Given the description of an element on the screen output the (x, y) to click on. 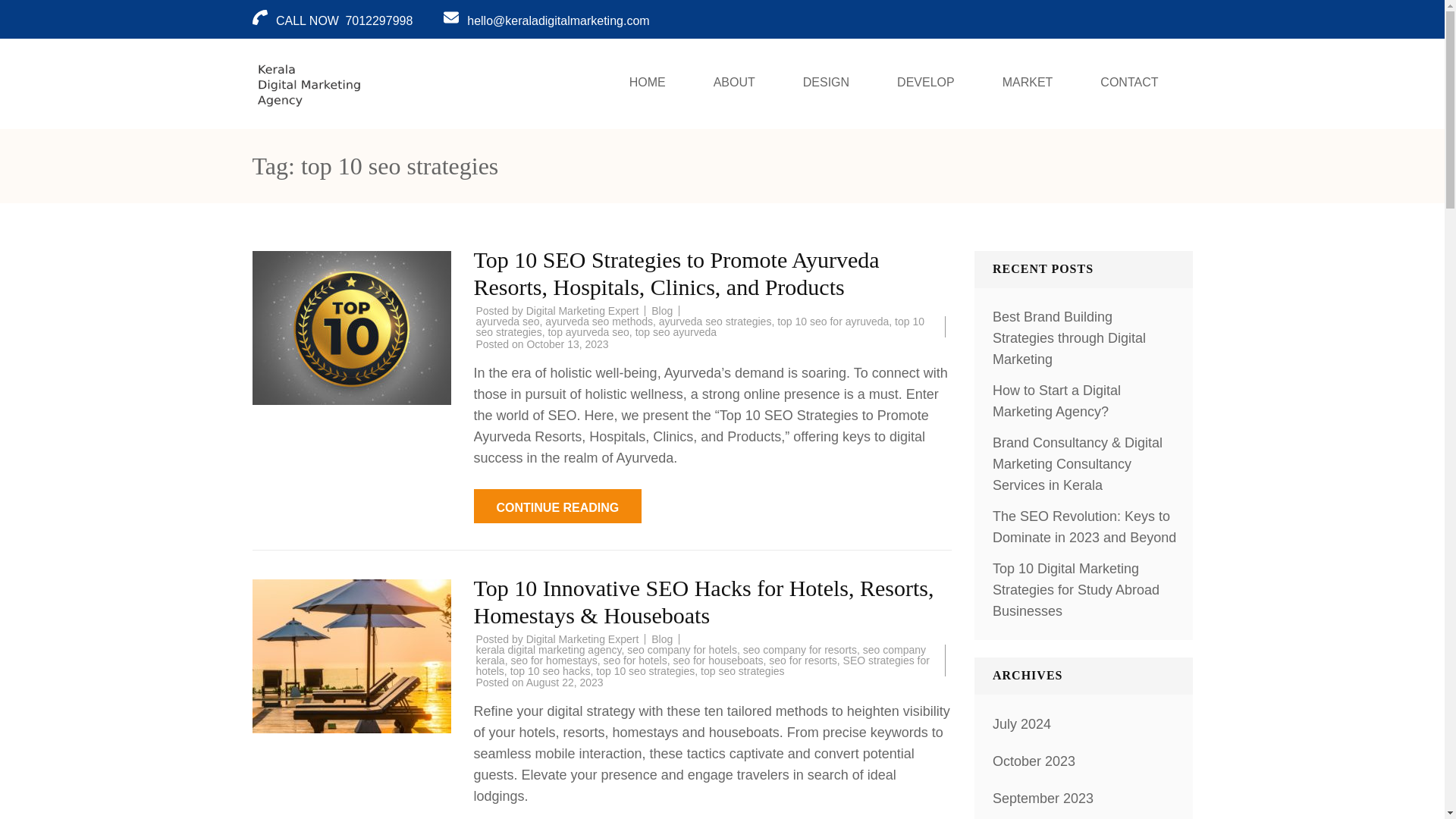
DESIGN (826, 83)
HOME (647, 83)
CONTACT (1128, 83)
Blog (661, 639)
ABOUT (734, 83)
top 10 seo for ayruveda (832, 321)
MARKET (1027, 83)
ayurveda seo strategies (715, 321)
ayurveda seo (508, 321)
CONTINUE READING (557, 505)
Digital Marketing Expert (582, 310)
October 13, 2023 (566, 344)
ayurveda seo methods (598, 321)
Digital Marketing Expert (582, 639)
